Given the description of an element on the screen output the (x, y) to click on. 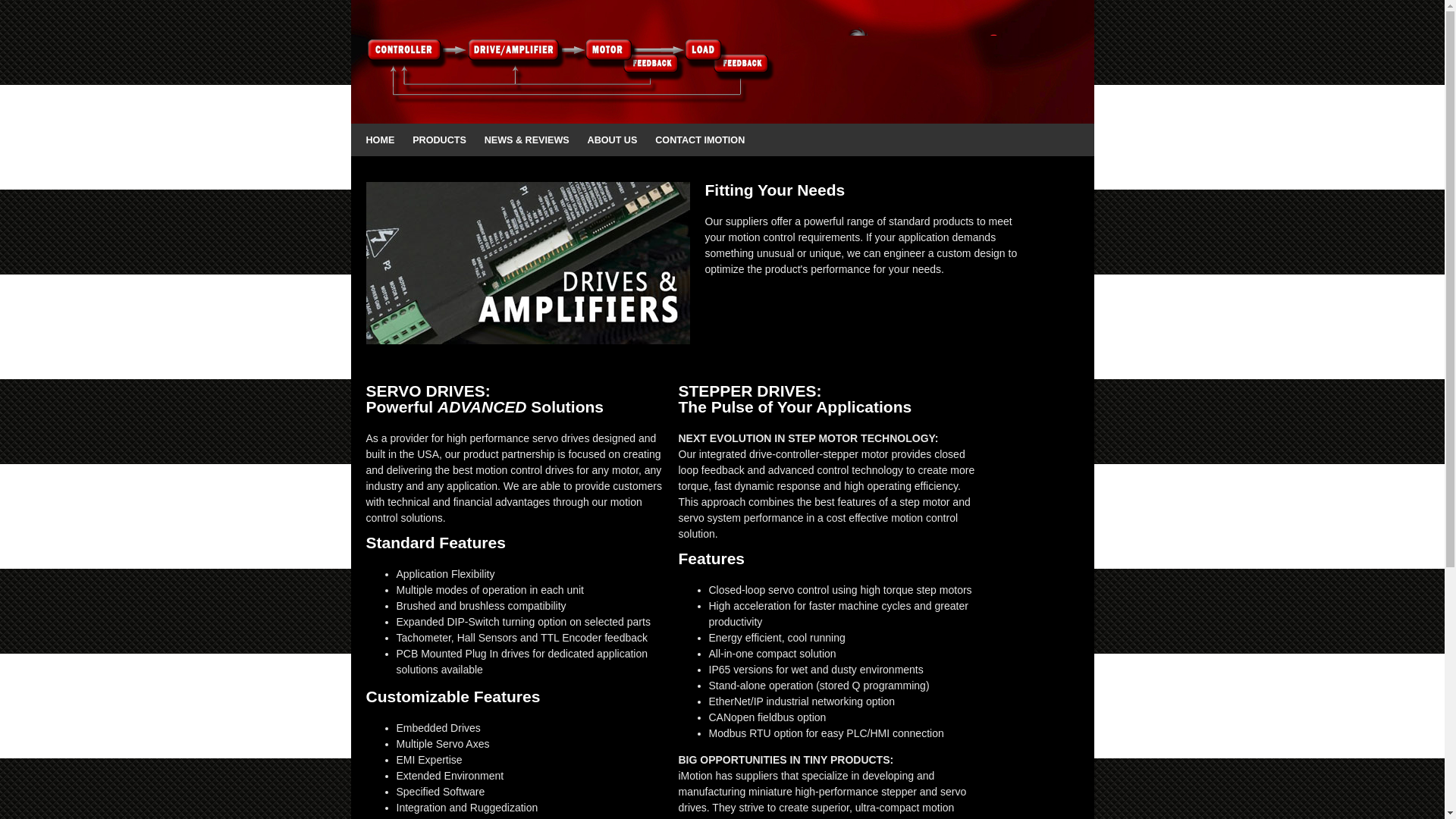
PRODUCTS (438, 140)
ABOUT US (612, 140)
CONTACT IMOTION (699, 140)
HOME (379, 140)
